Given the description of an element on the screen output the (x, y) to click on. 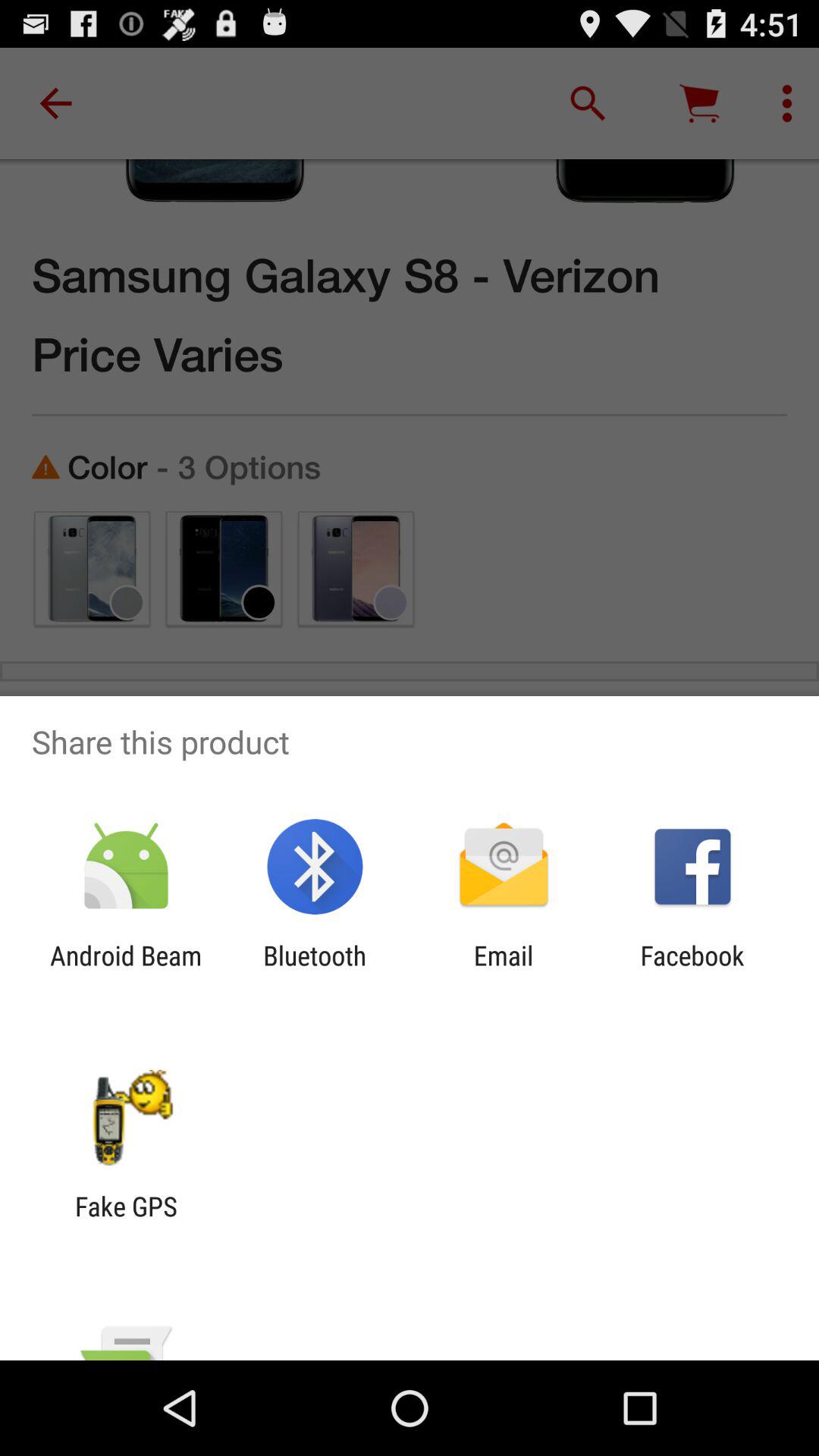
open the icon next to the android beam icon (314, 971)
